Given the description of an element on the screen output the (x, y) to click on. 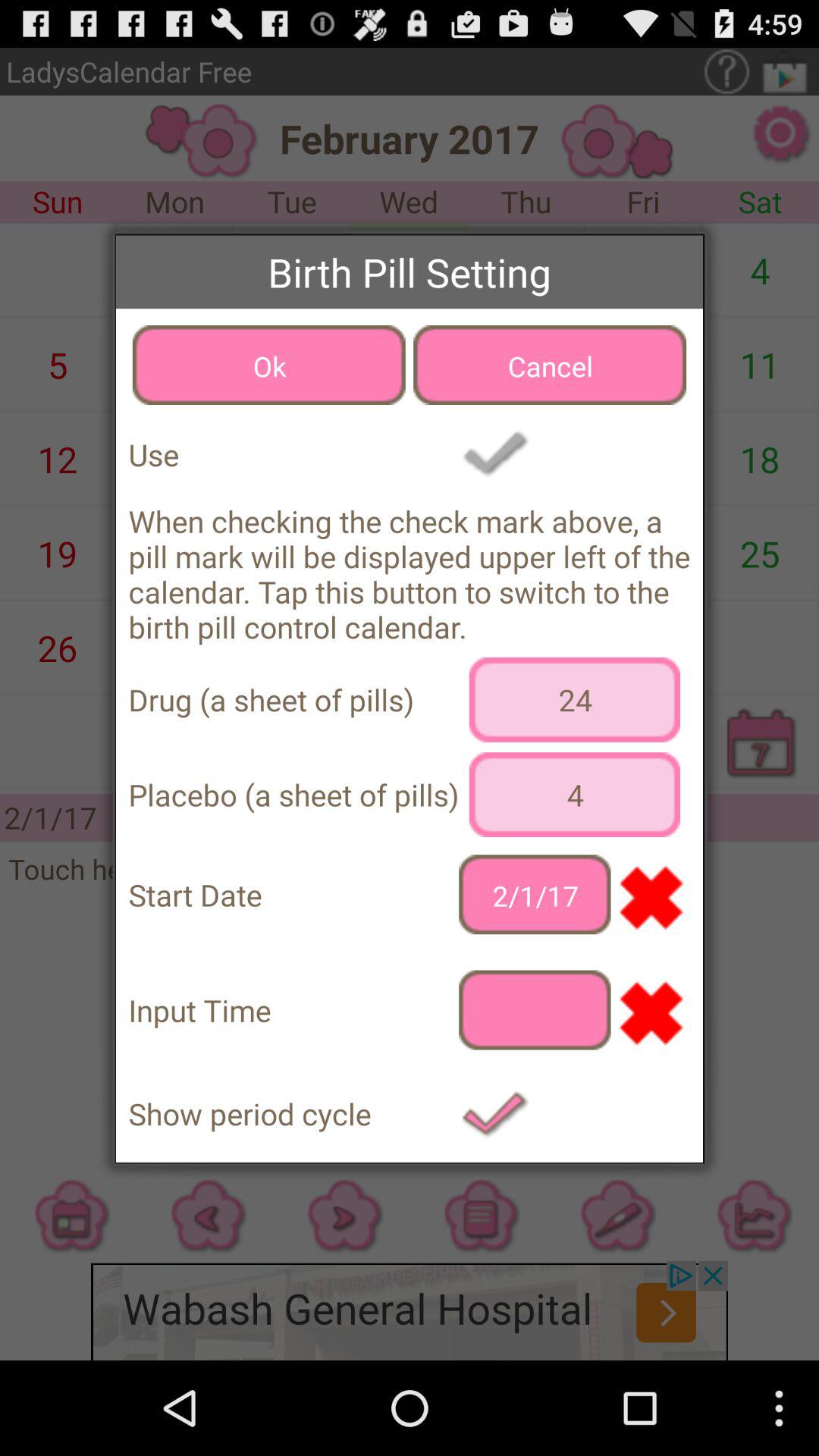
tap the button to the right of the 2/1/17 item (650, 894)
